Given the description of an element on the screen output the (x, y) to click on. 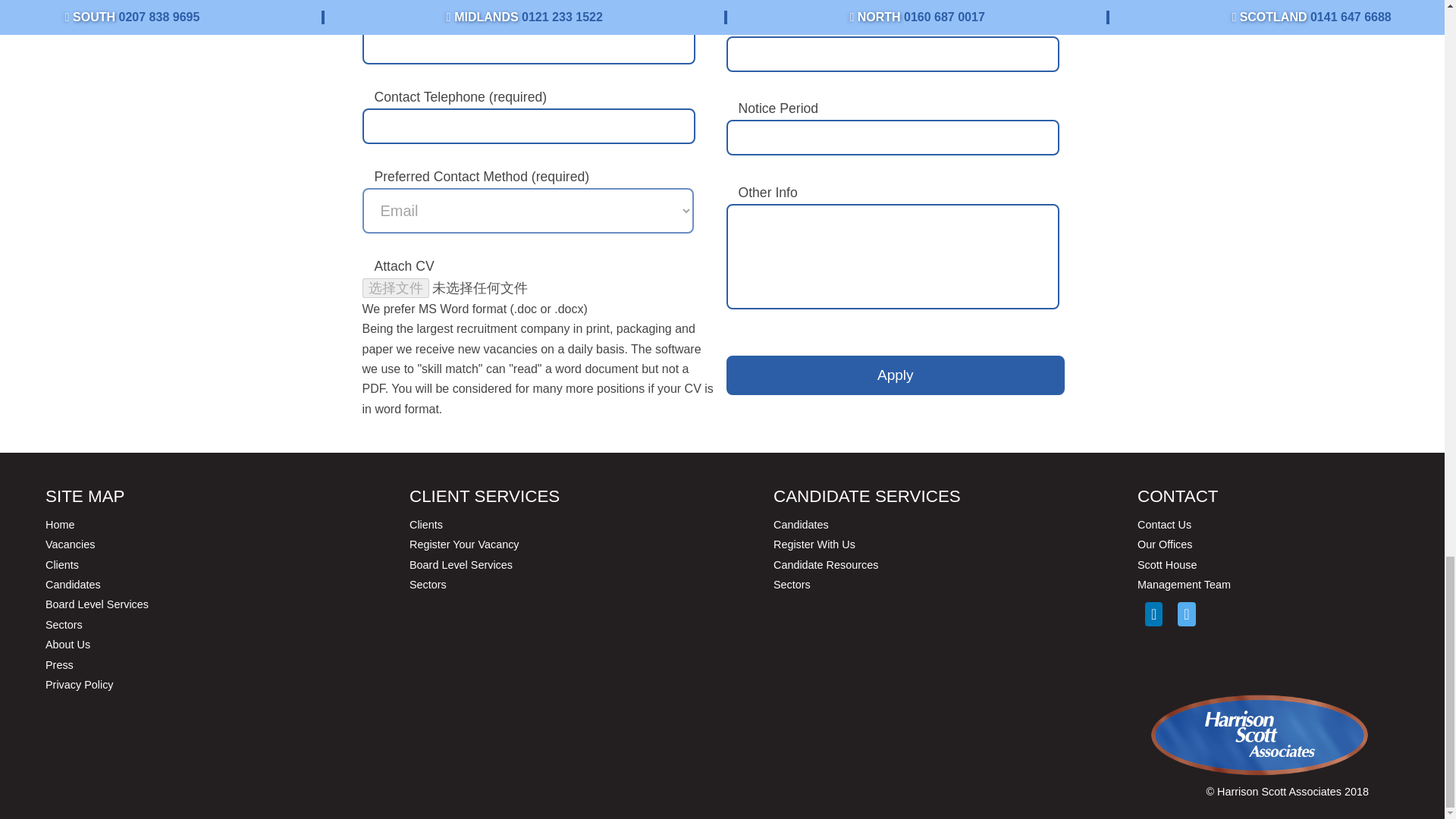
Clients (61, 564)
Home (59, 524)
Privacy Policy (79, 684)
Board Level Services (96, 604)
About Us (67, 644)
Vacancies (69, 544)
Sectors (63, 624)
Sectors (427, 584)
Apply (895, 374)
Candidates (72, 584)
